Given the description of an element on the screen output the (x, y) to click on. 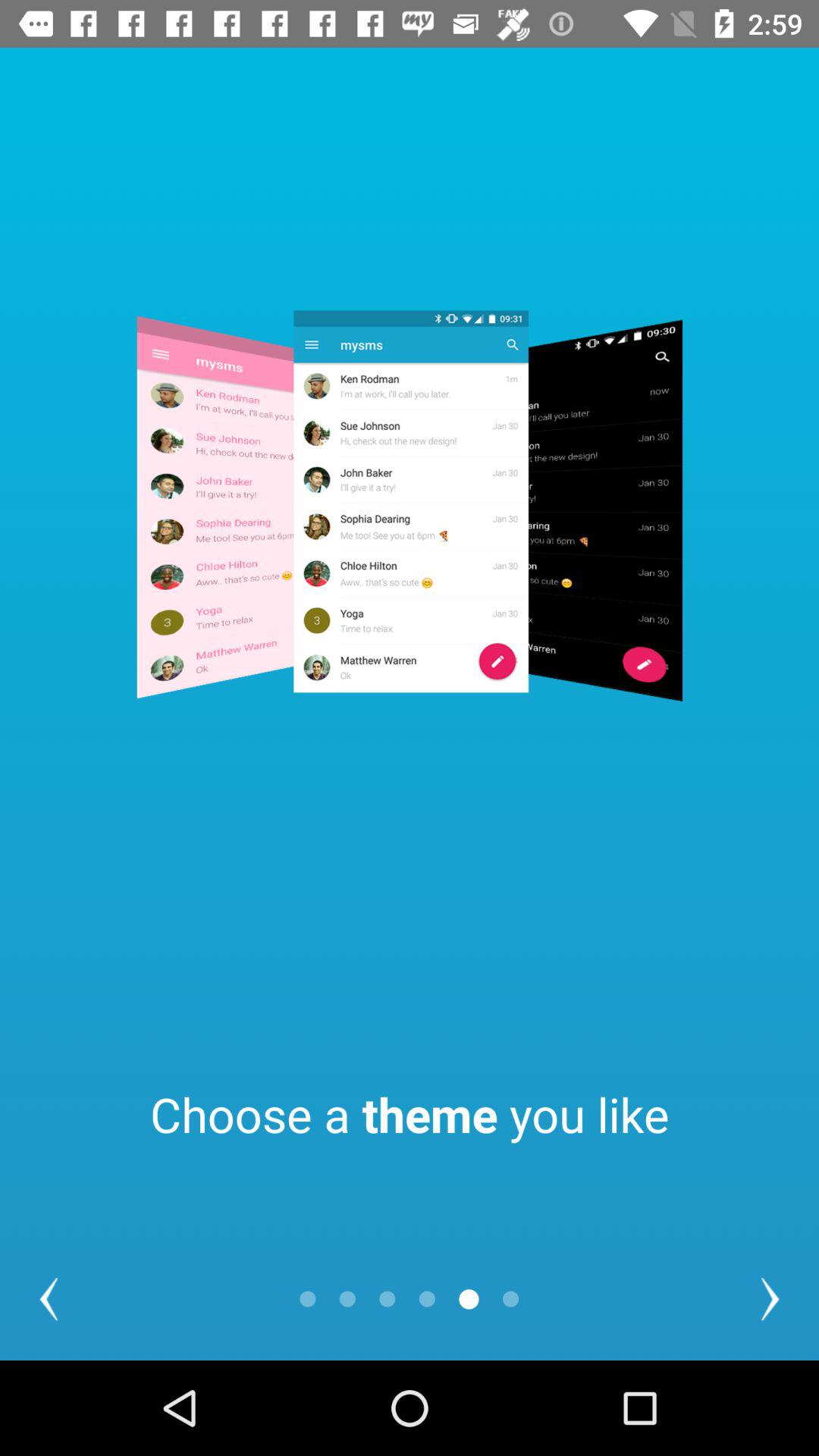
click item at the bottom left corner (49, 1299)
